Given the description of an element on the screen output the (x, y) to click on. 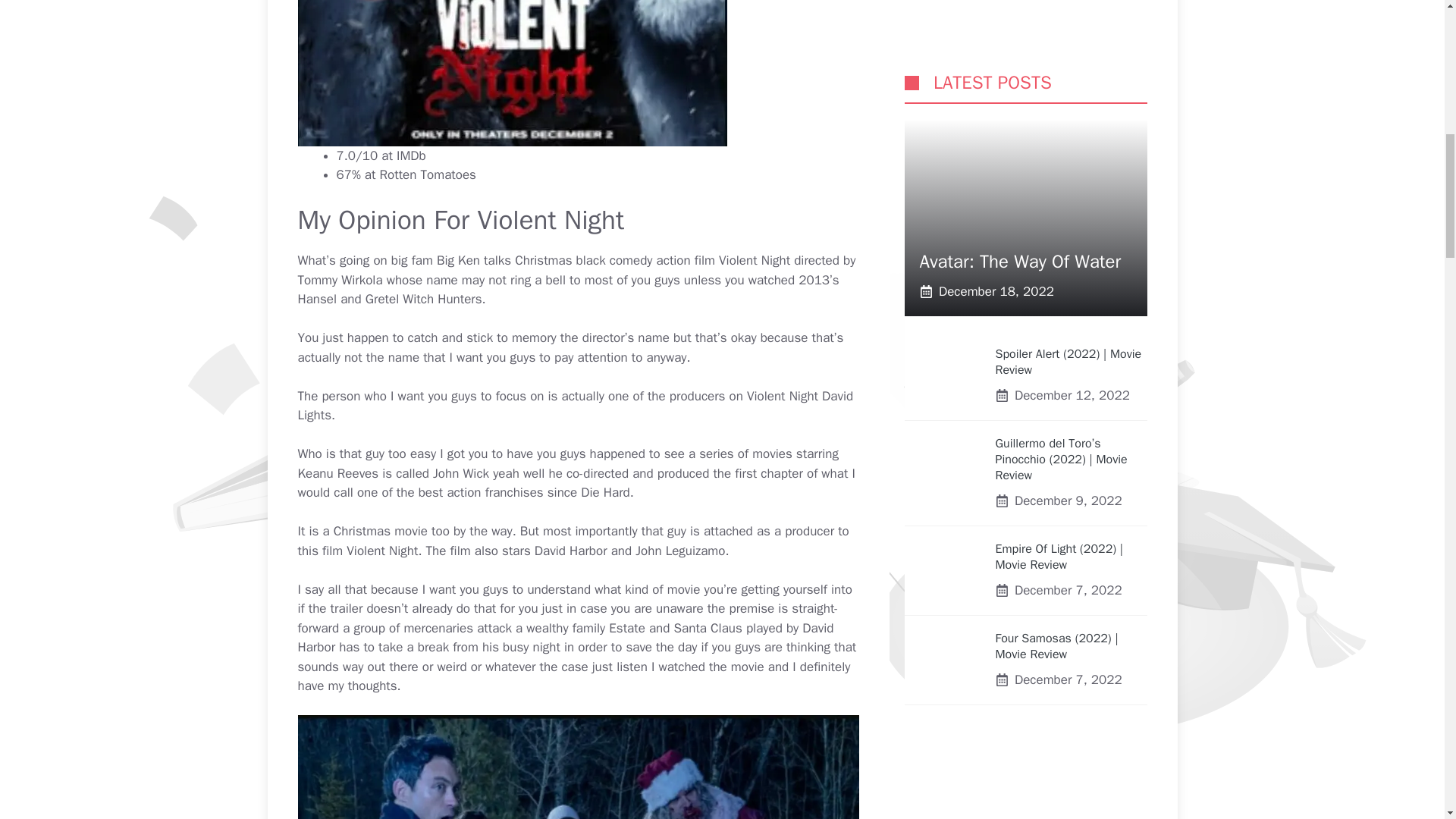
Scroll back to top (1406, 720)
Rotten Tomatoes (428, 174)
IMDb (411, 155)
